Given the description of an element on the screen output the (x, y) to click on. 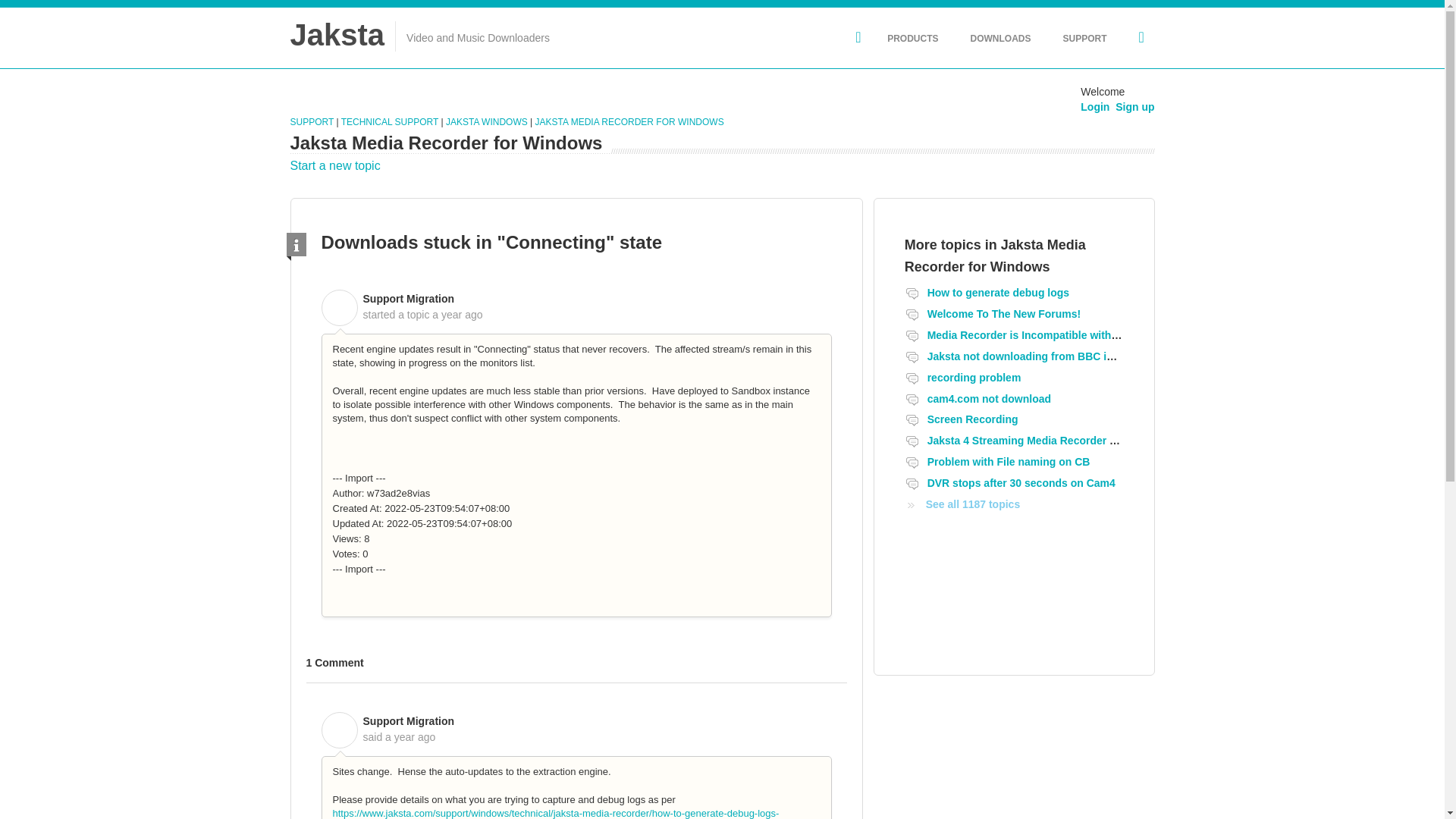
JAKSTA WINDOWS (486, 122)
Problem with File naming on CB (1008, 461)
Start a new topic (334, 164)
TECHNICAL SUPPORT (389, 122)
Mon, 8 May, 2023 at  2:40 AM (456, 314)
Jaksta (336, 34)
See all 1187 topics (962, 503)
cam4.com not download (989, 398)
SUPPORT (1084, 37)
SUPPORT (312, 122)
Screen Recording (972, 419)
recording problem (974, 377)
Media Recorder is Incompatible with Firefox Portable (1061, 335)
Start a new topic (334, 164)
